Given the description of an element on the screen output the (x, y) to click on. 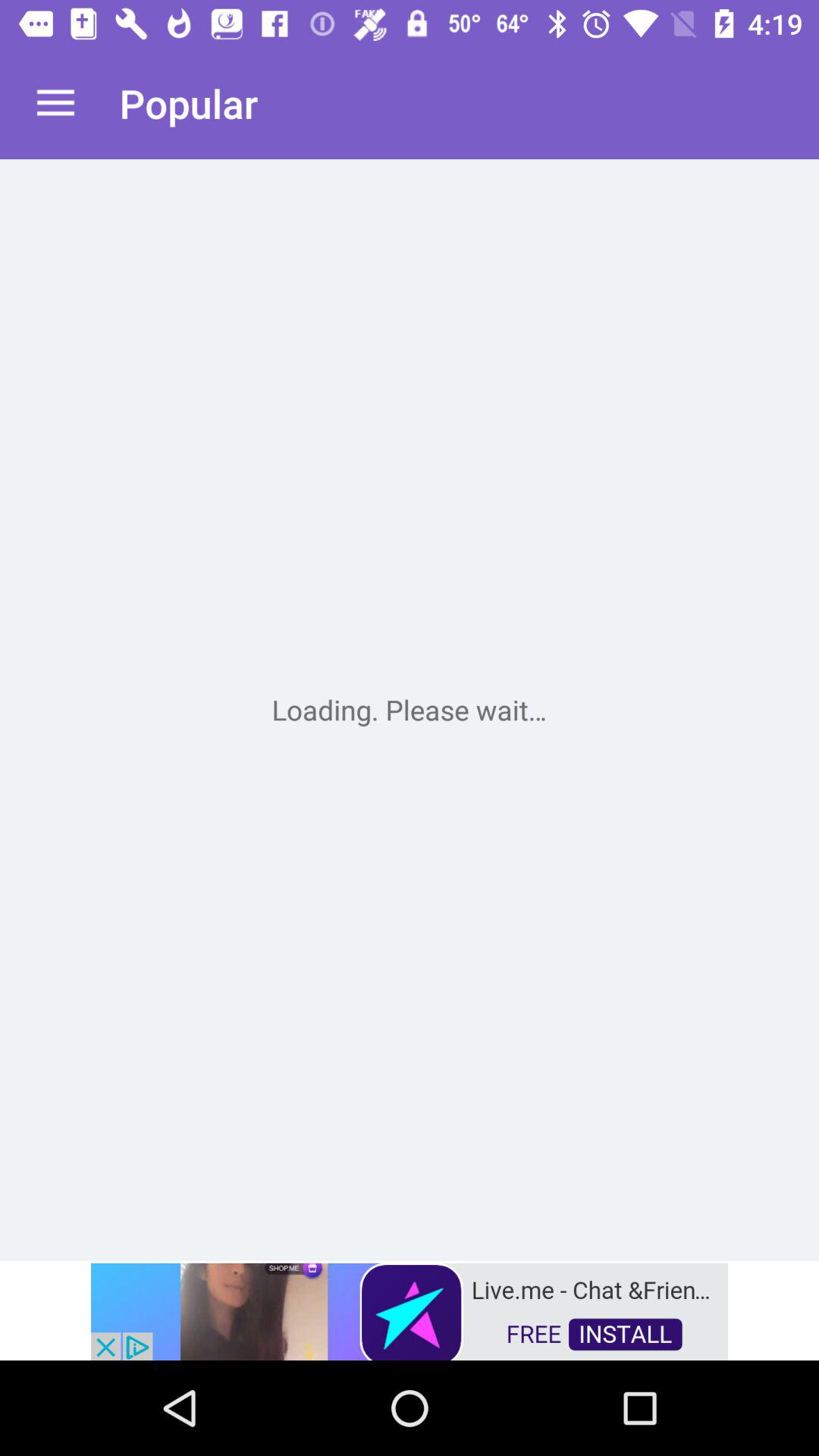
install advertisement (409, 1310)
